Given the description of an element on the screen output the (x, y) to click on. 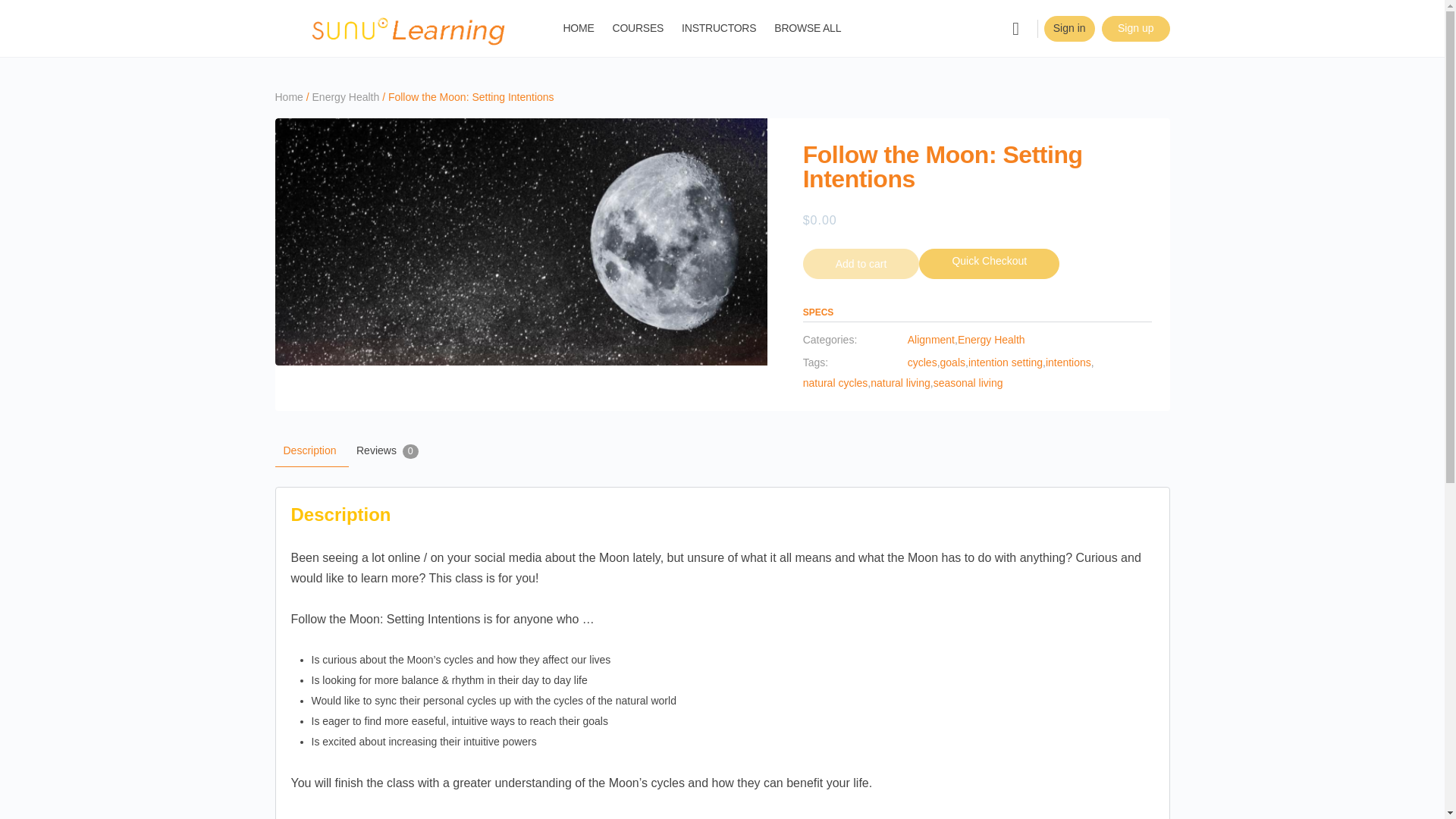
COURSES (637, 28)
INSTRUCTORS (718, 28)
Add to cart (861, 263)
Sign in (1068, 27)
cycles (922, 362)
Home (288, 96)
Sign up (1135, 27)
BROWSE ALL (807, 28)
Quick Checkout (988, 263)
Follow the Moon: Setting Intentions (521, 241)
Alignment (931, 340)
Energy Health (346, 96)
Energy Health (991, 340)
